Given the description of an element on the screen output the (x, y) to click on. 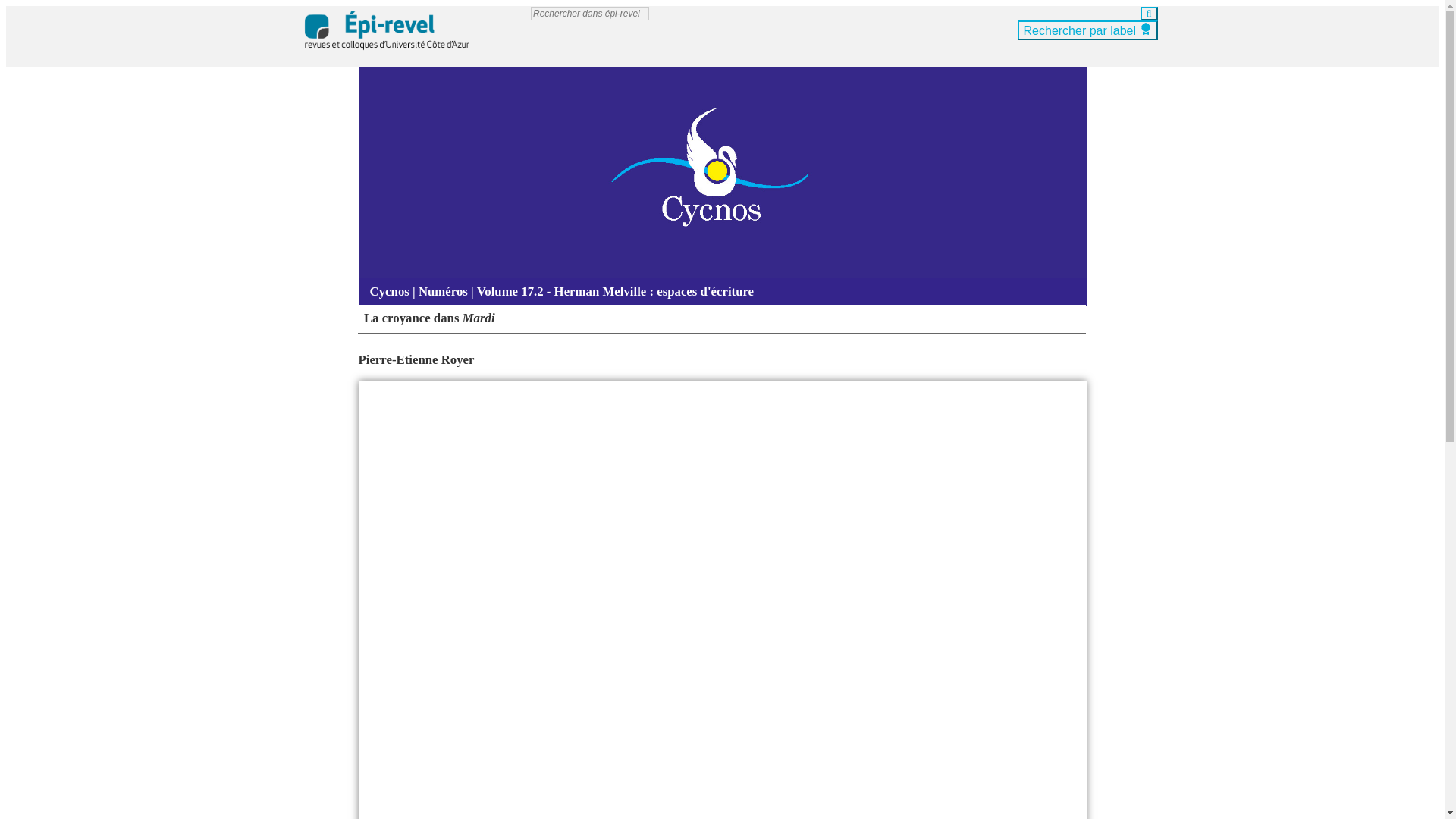
Rechercher par label (1087, 30)
Cycnos (389, 291)
Pierre-Etienne Royer (416, 359)
